Given the description of an element on the screen output the (x, y) to click on. 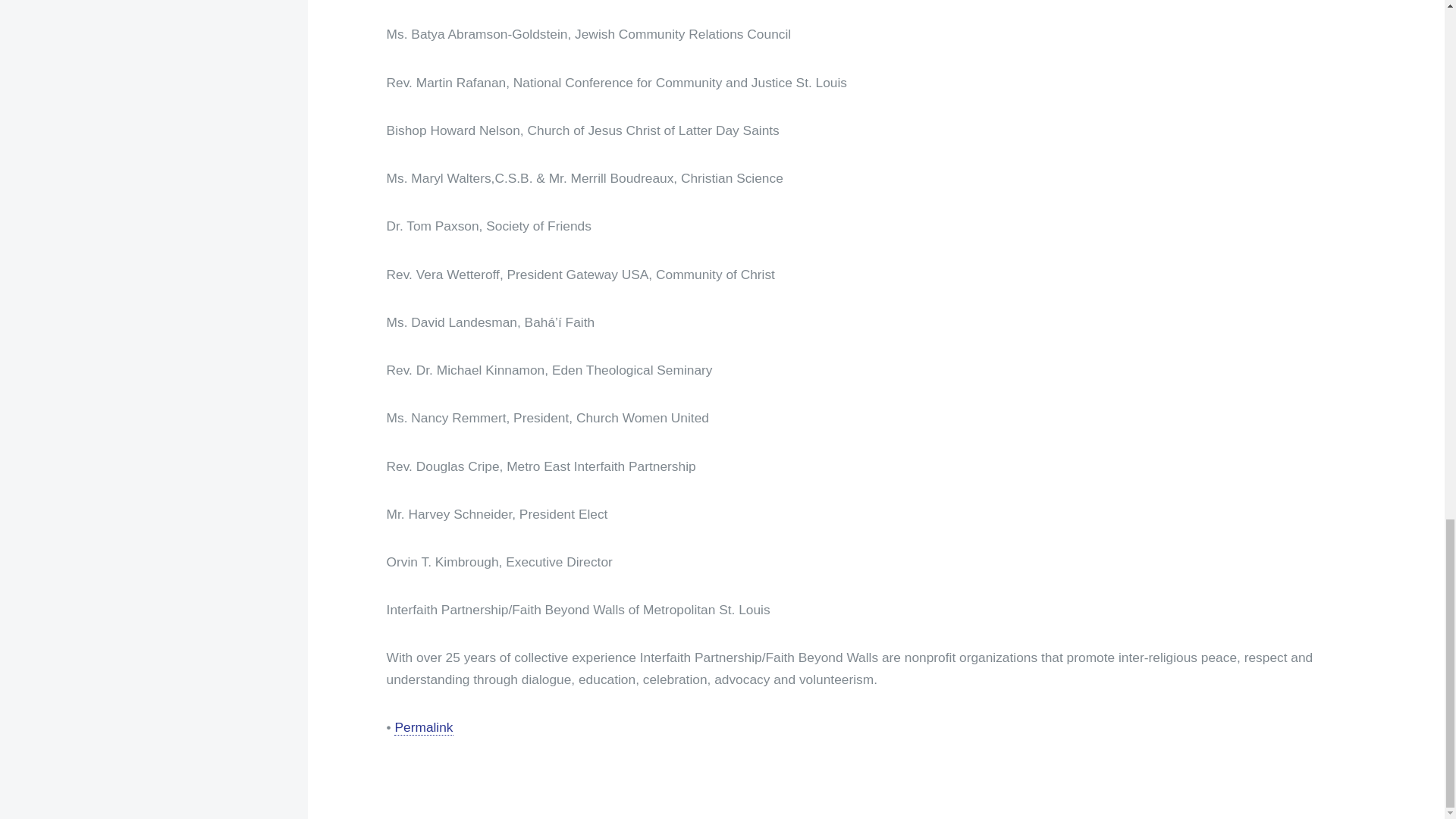
Permalink (423, 727)
